Given the description of an element on the screen output the (x, y) to click on. 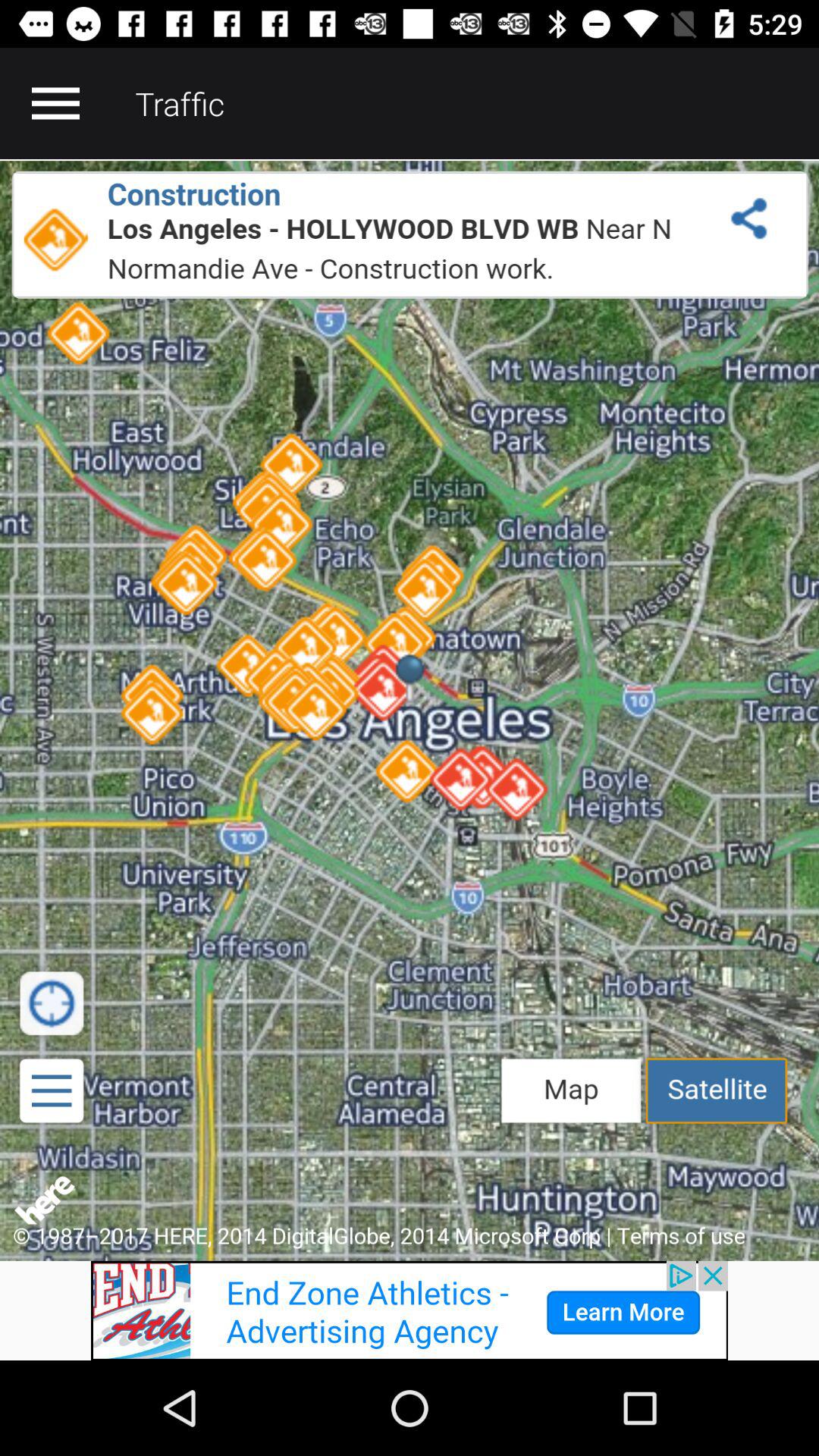
open menu (55, 103)
